Given the description of an element on the screen output the (x, y) to click on. 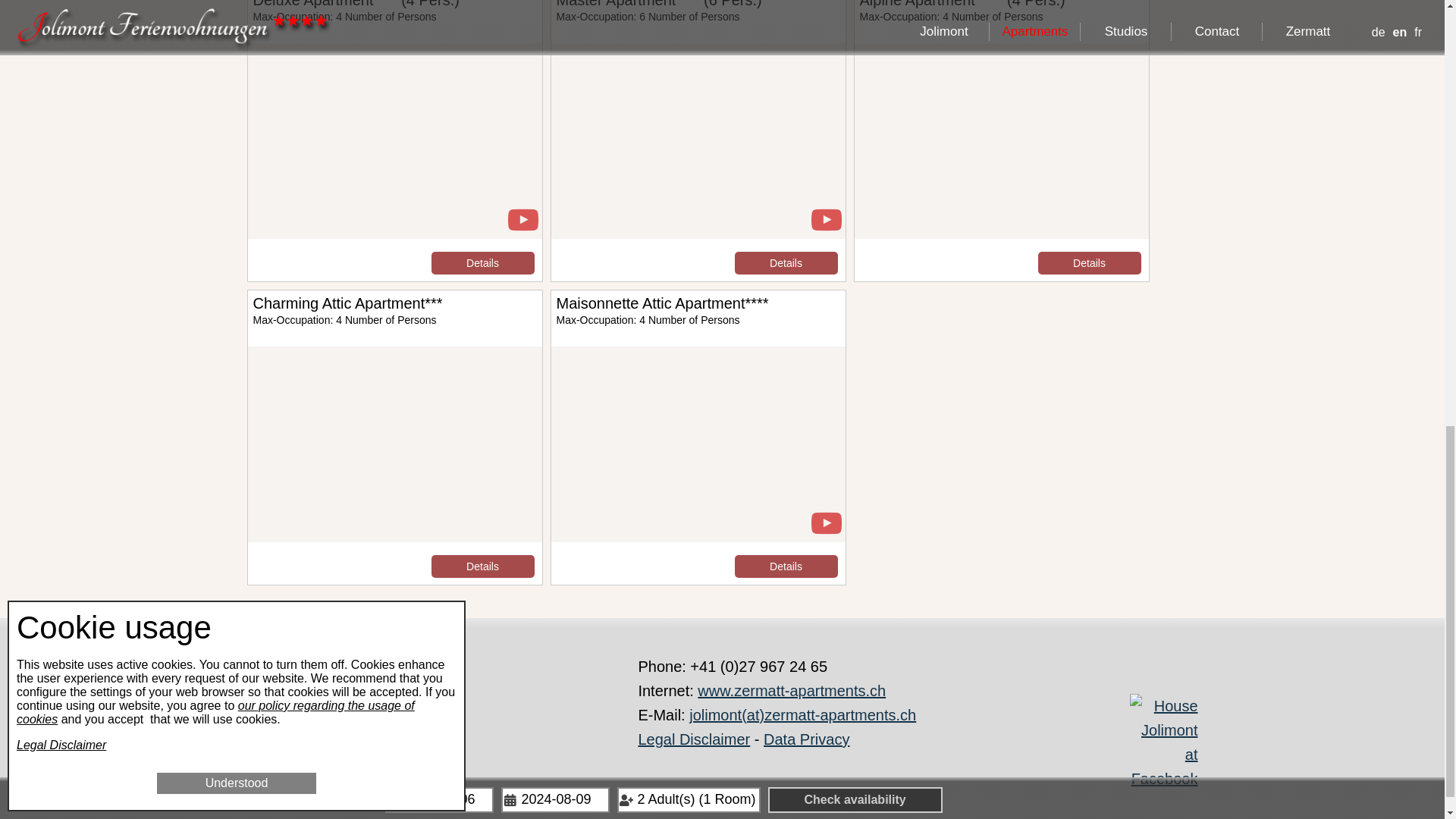
Details (482, 262)
